Given the description of an element on the screen output the (x, y) to click on. 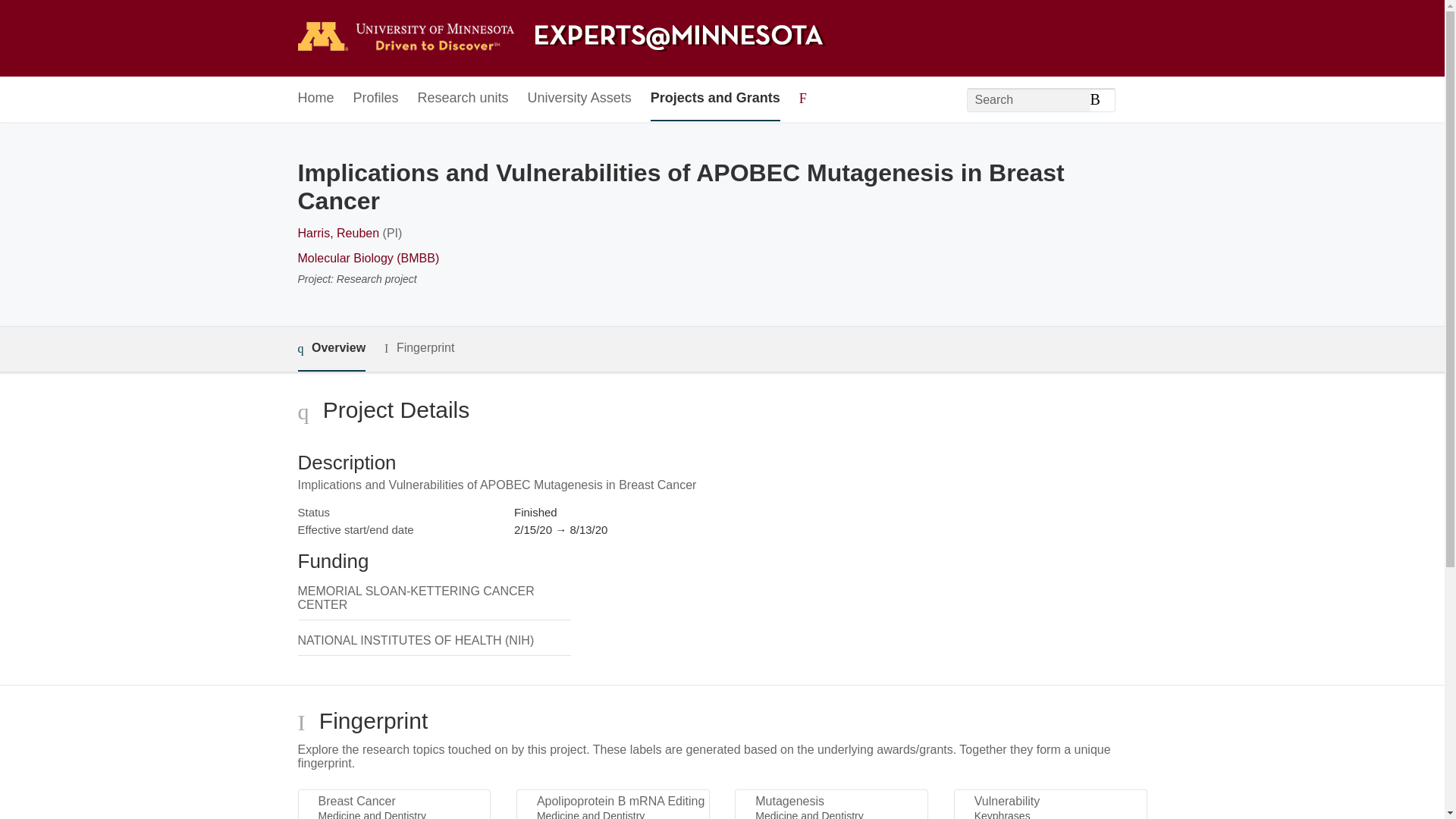
Projects and Grants (715, 98)
Overview (331, 348)
Research units (462, 98)
Harris, Reuben (337, 232)
Home (315, 98)
University Assets (579, 98)
Profiles (375, 98)
Fingerprint (419, 348)
